Given the description of an element on the screen output the (x, y) to click on. 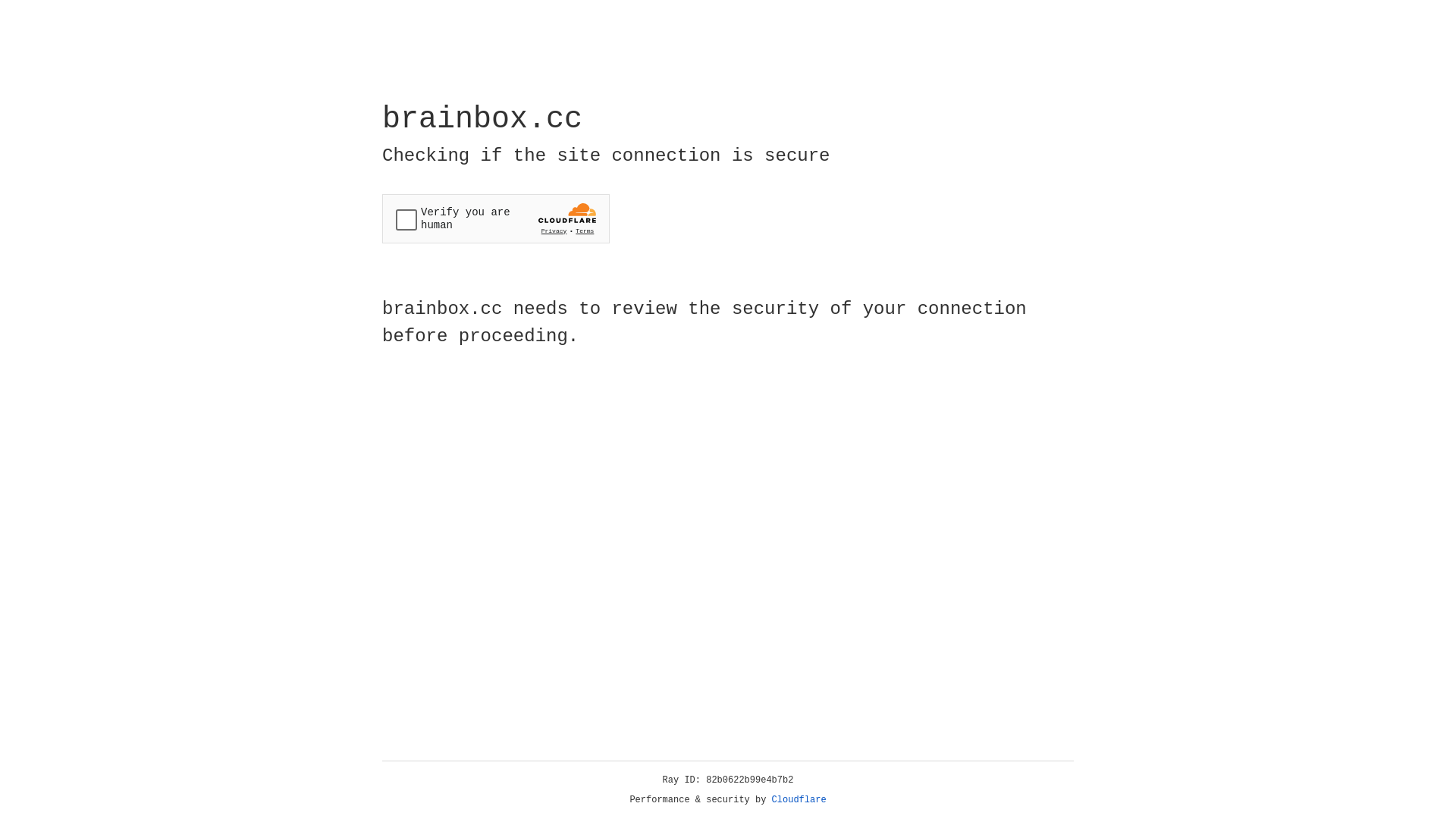
Cloudflare Element type: text (798, 799)
Widget containing a Cloudflare security challenge Element type: hover (495, 218)
